Given the description of an element on the screen output the (x, y) to click on. 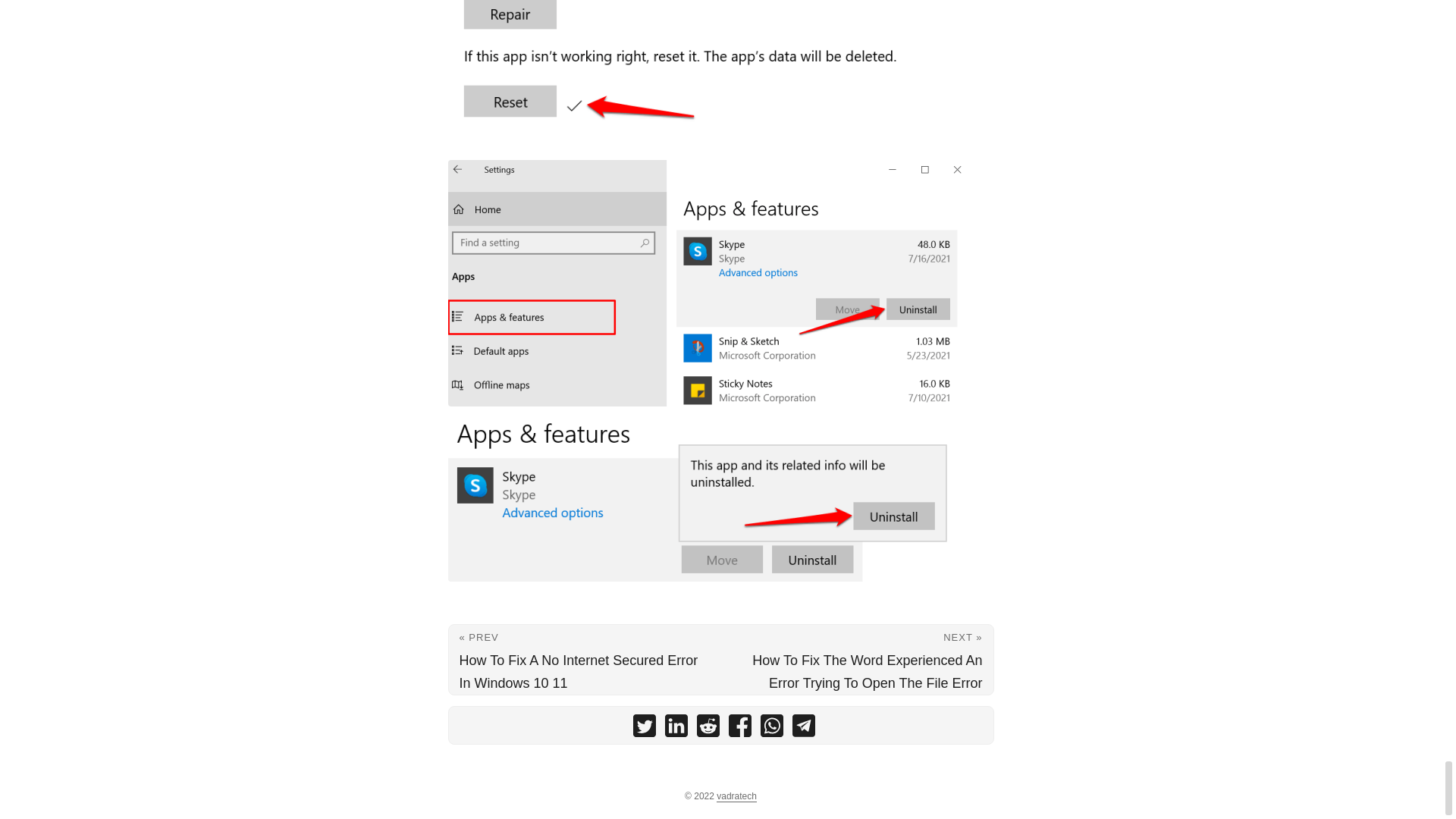
vadratech (736, 796)
